Given the description of an element on the screen output the (x, y) to click on. 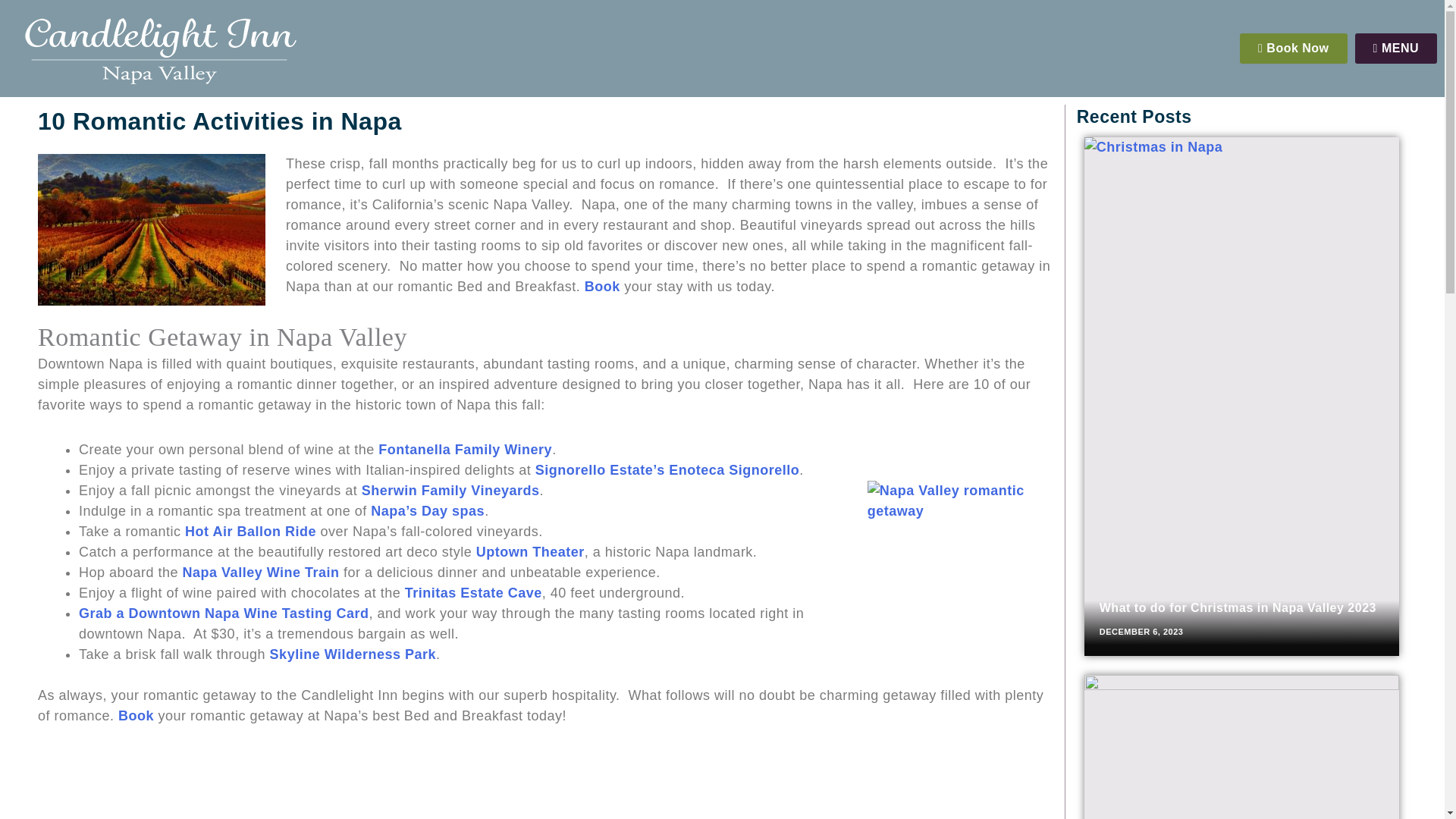
Fontanella Family Winery (464, 449)
Sherwin Family Vineyards (450, 490)
Skyline Wilderness Park (352, 654)
Trinitas Estate Cave (472, 592)
What to do for Christmas in Napa Valley 2023 (1237, 607)
MENU (1396, 48)
Uptown Theater (530, 551)
Book (135, 715)
